Given the description of an element on the screen output the (x, y) to click on. 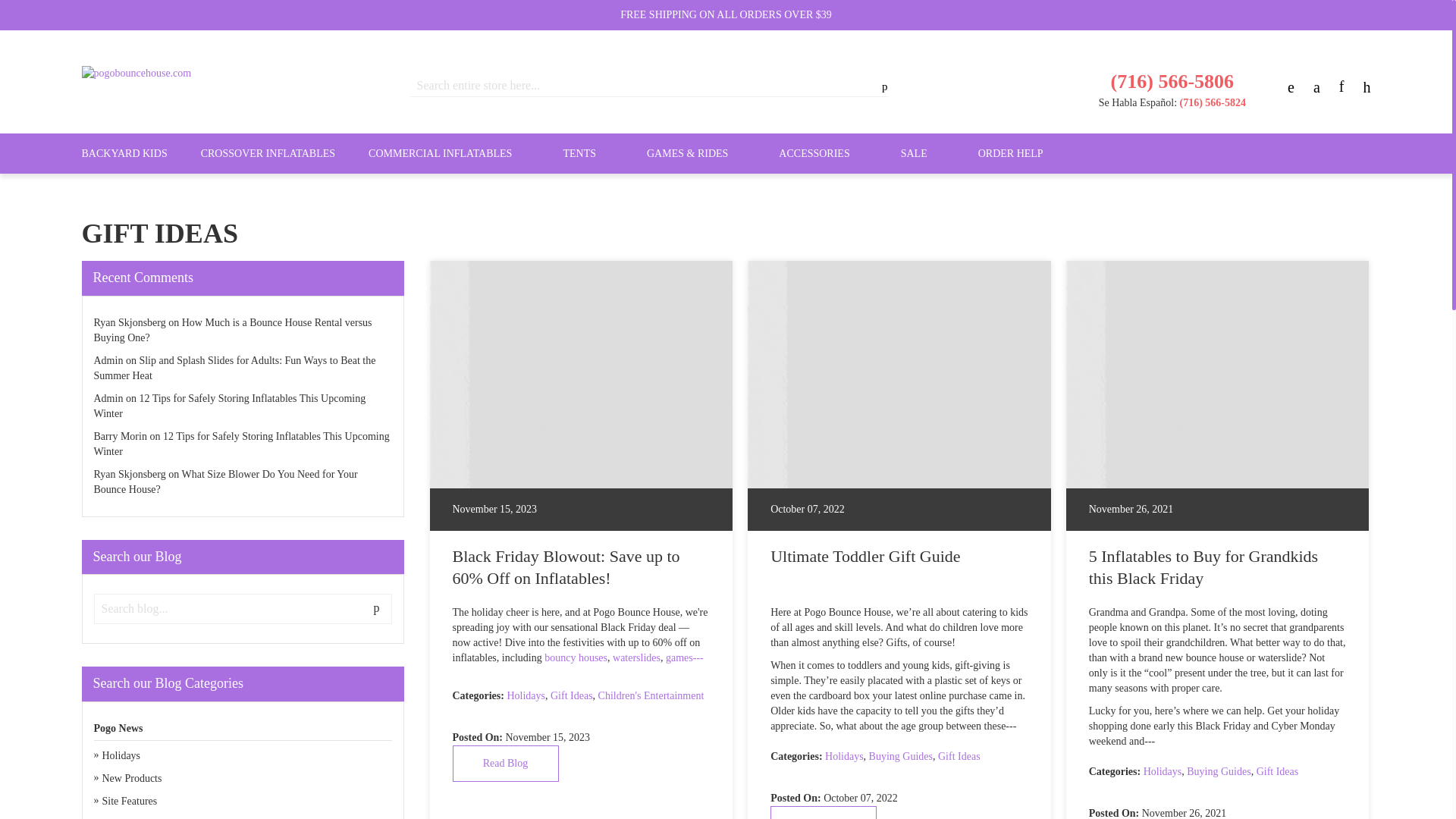
Buying Guides (1218, 771)
5 Inflatables to Buy for Grandkids this Black Friday (1217, 374)
Gift Ideas (571, 695)
Gift Ideas (958, 756)
Gift Ideas (1277, 771)
Ultimate Toddler Gift Guide (823, 812)
BACKYARD KIDS (124, 153)
Ultimate Toddler Gift Guide (899, 374)
Holidays (844, 756)
Buying Guides (901, 756)
